Given the description of an element on the screen output the (x, y) to click on. 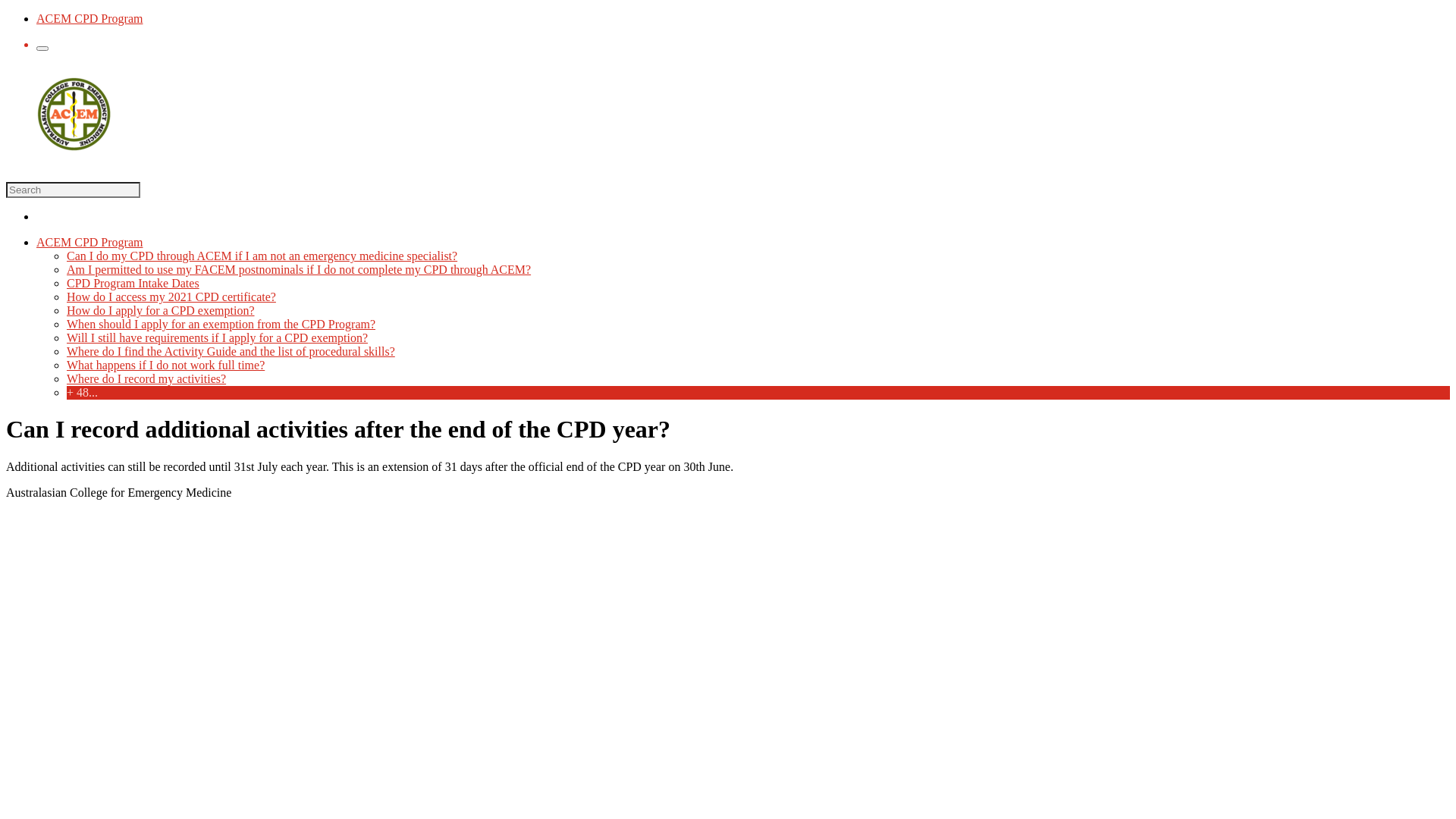
What happens if I do not work full time? Element type: text (165, 364)
When should I apply for an exemption from the CPD Program? Element type: text (220, 323)
CPD Program Intake Dates Element type: text (132, 282)
ACEM CPD Program Element type: text (89, 18)
Where do I record my activities? Element type: text (145, 378)
ACEM CPD Program Element type: text (89, 241)
How do I apply for a CPD exemption? Element type: text (160, 310)
How do I access my 2021 CPD certificate? Element type: text (171, 296)
+ 48... Element type: text (757, 392)
